Given the description of an element on the screen output the (x, y) to click on. 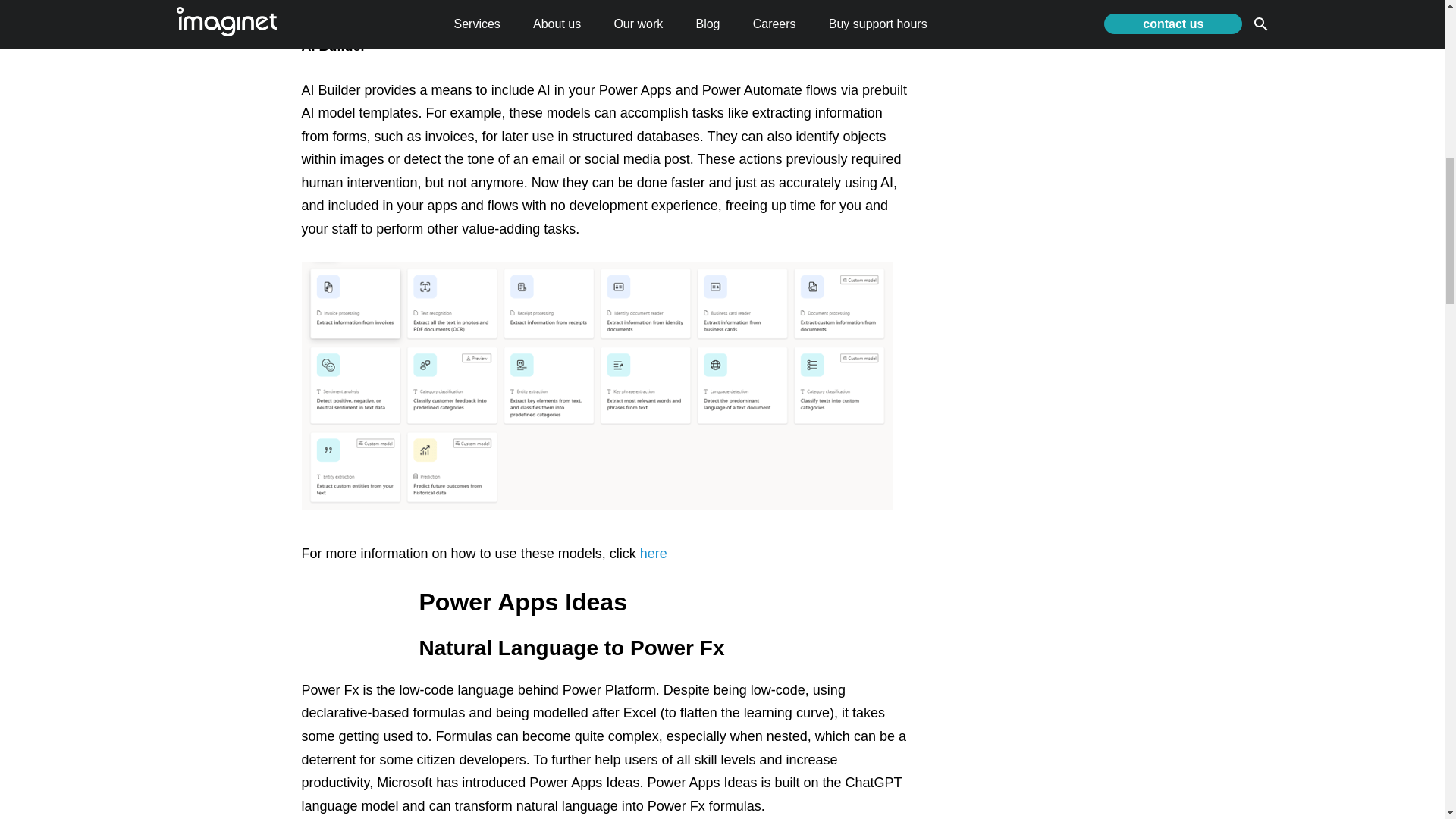
Scroll back to top (1406, 720)
